Given the description of an element on the screen output the (x, y) to click on. 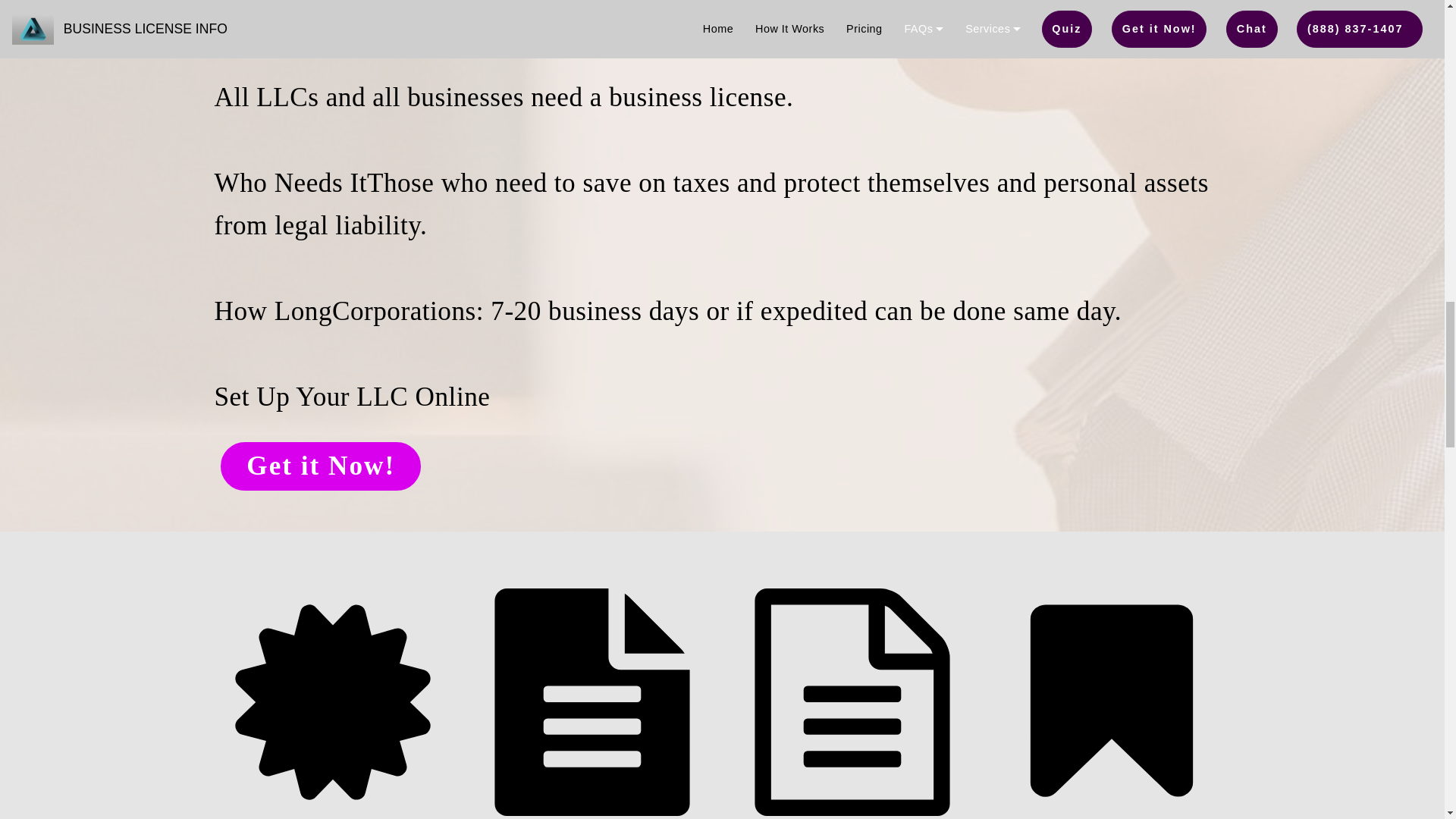
Get it Now! (320, 465)
